Given the description of an element on the screen output the (x, y) to click on. 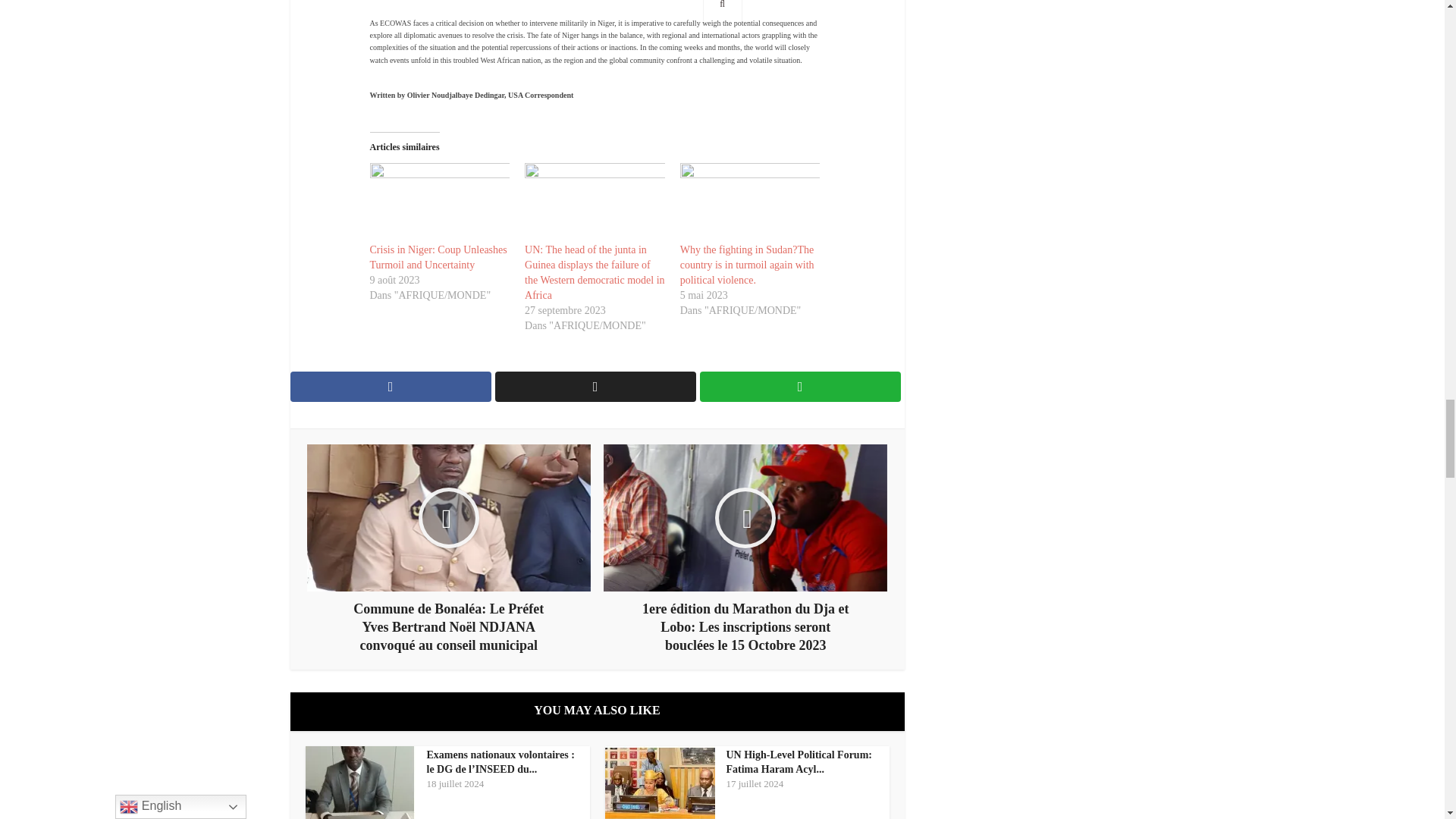
Crisis in Niger: Coup Unleashes Turmoil and Uncertainty (440, 202)
Crisis in Niger: Coup Unleashes Turmoil and Uncertainty (437, 257)
